Given the description of an element on the screen output the (x, y) to click on. 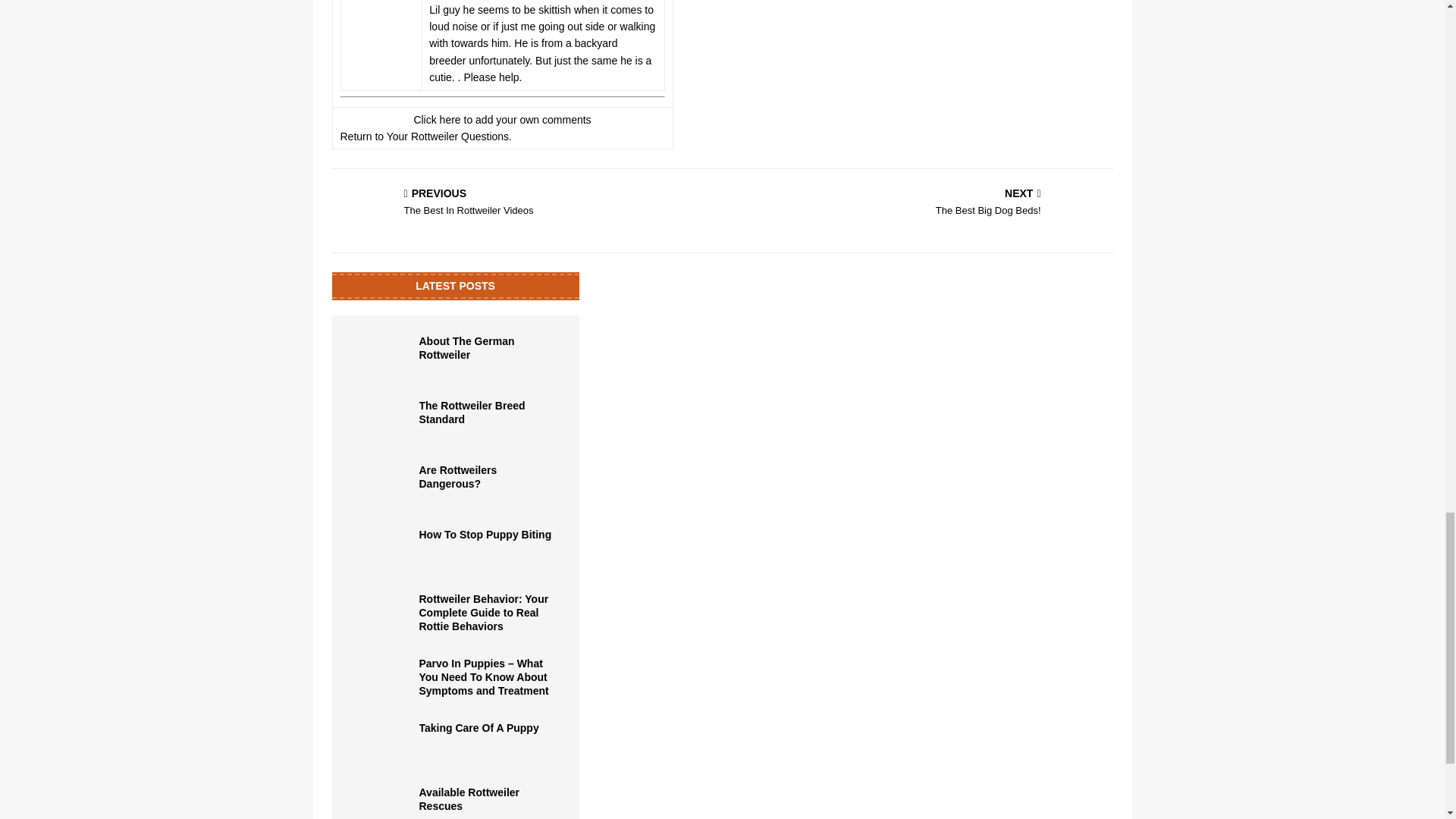
How To Stop Puppy Biting (380, 550)
The Rottweiler Breed Standard (471, 412)
About The German Rottweiler (380, 357)
Are Rottweilers Dangerous? (457, 476)
Are Rottweilers Dangerous? (380, 485)
About The German Rottweiler (466, 347)
The Rottweiler Breed Standard (380, 421)
How To Stop Puppy Biting (485, 534)
